Given the description of an element on the screen output the (x, y) to click on. 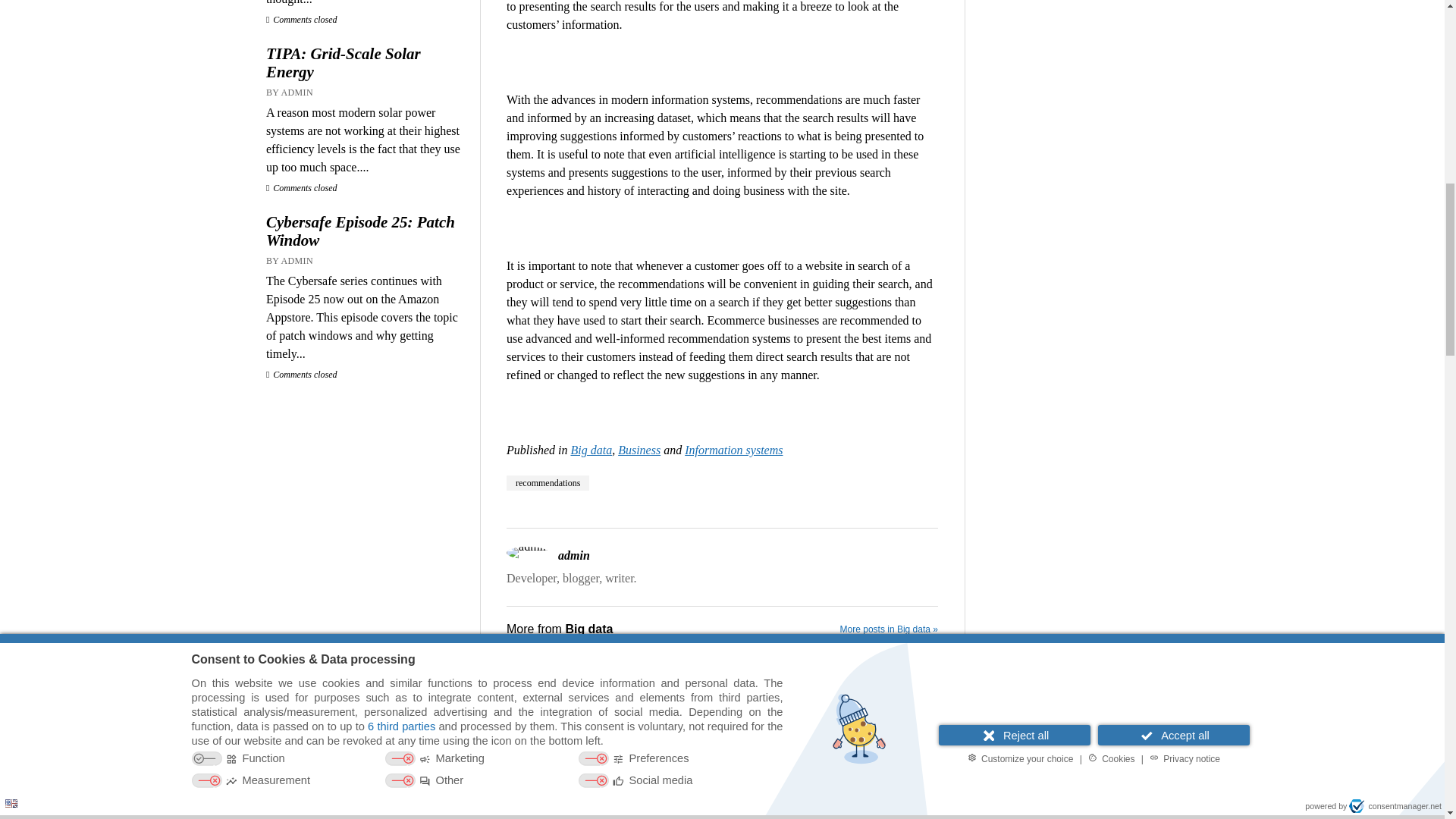
Comments closed (301, 19)
TIPA: Grid-Scale Solar Energy (365, 63)
Comments closed (301, 187)
Cybersafe Episode 25: Patch Window (365, 230)
